Given the description of an element on the screen output the (x, y) to click on. 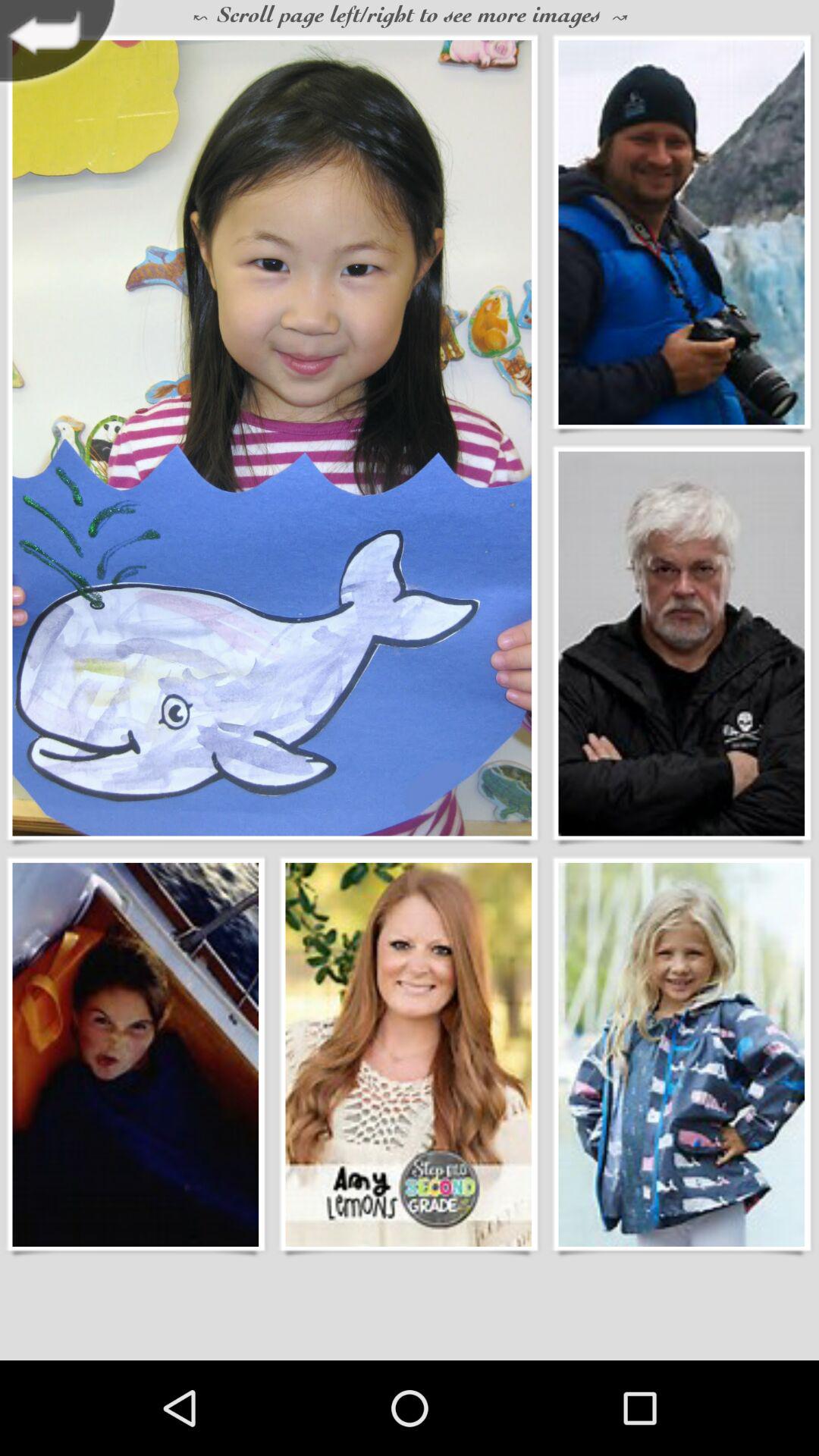
select image (681, 643)
